Given the description of an element on the screen output the (x, y) to click on. 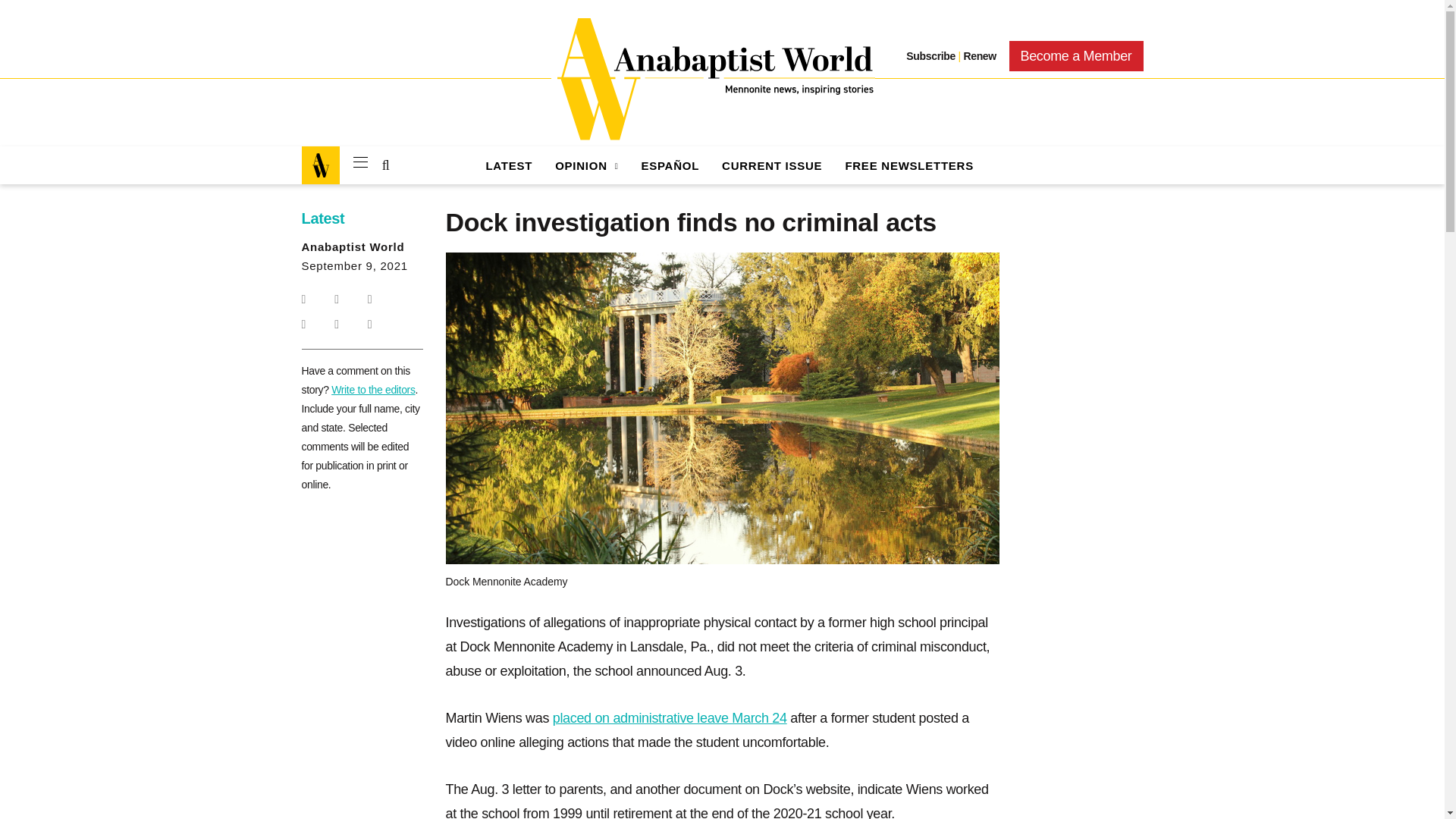
Latest (508, 164)
Free Newsletters (909, 164)
Anabaptist World (713, 79)
Opinion (585, 164)
Posts by Anabaptist World (352, 246)
Current Issue (772, 164)
